Given the description of an element on the screen output the (x, y) to click on. 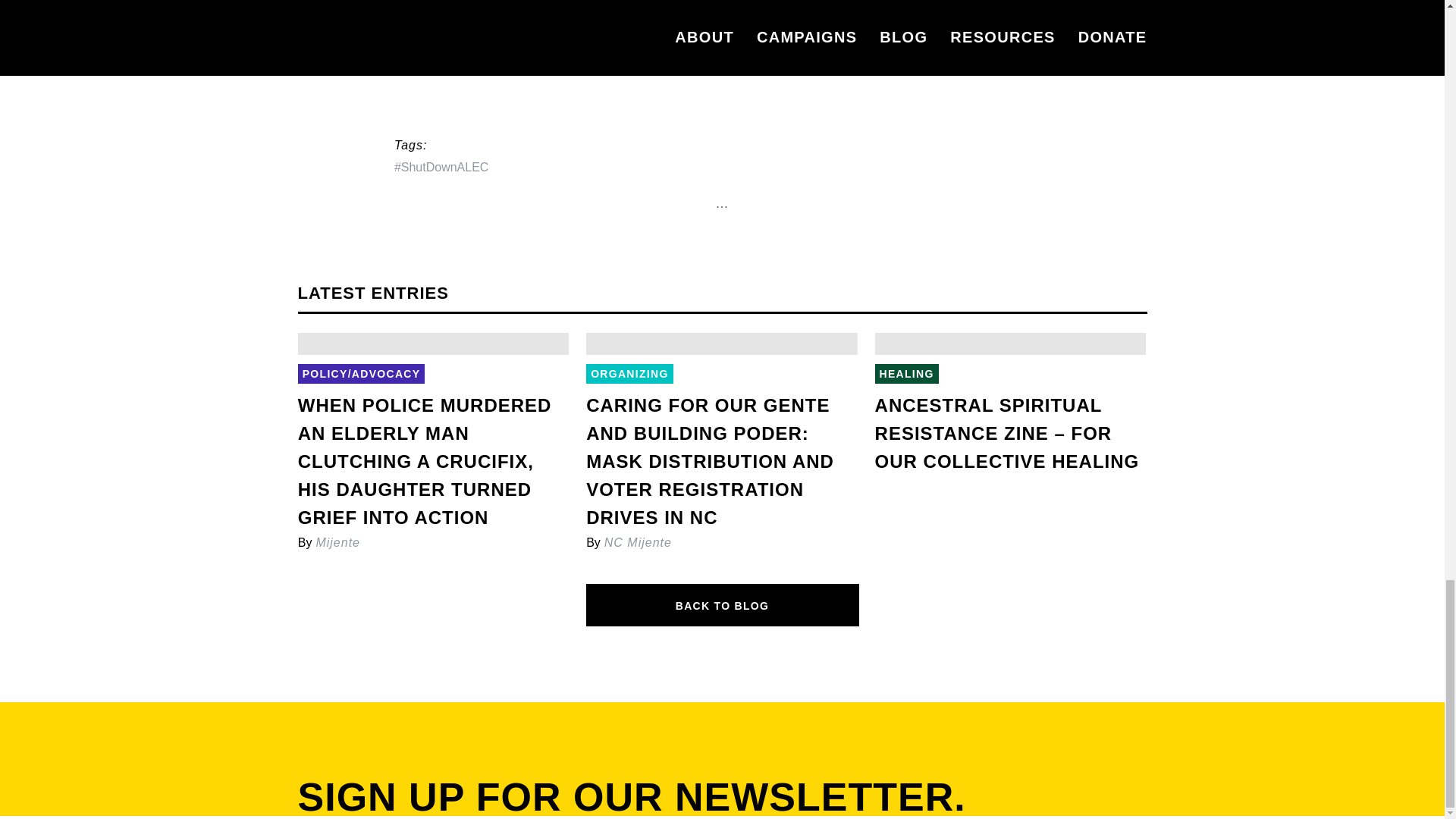
NC Mijente (637, 542)
Mijente (337, 542)
HEALING (907, 373)
BACK TO BLOG (722, 604)
ORGANIZING (629, 373)
